Given the description of an element on the screen output the (x, y) to click on. 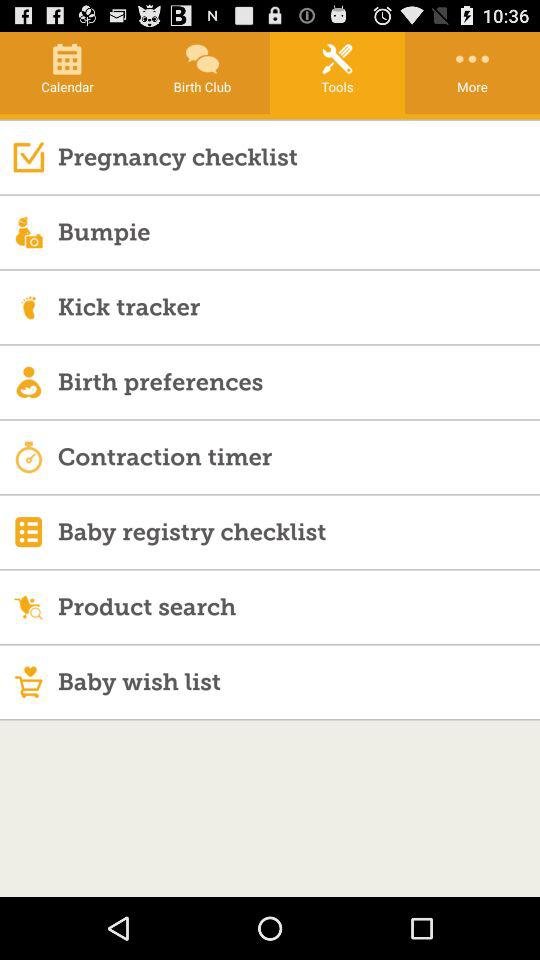
scroll until the birth preferences item (298, 381)
